Given the description of an element on the screen output the (x, y) to click on. 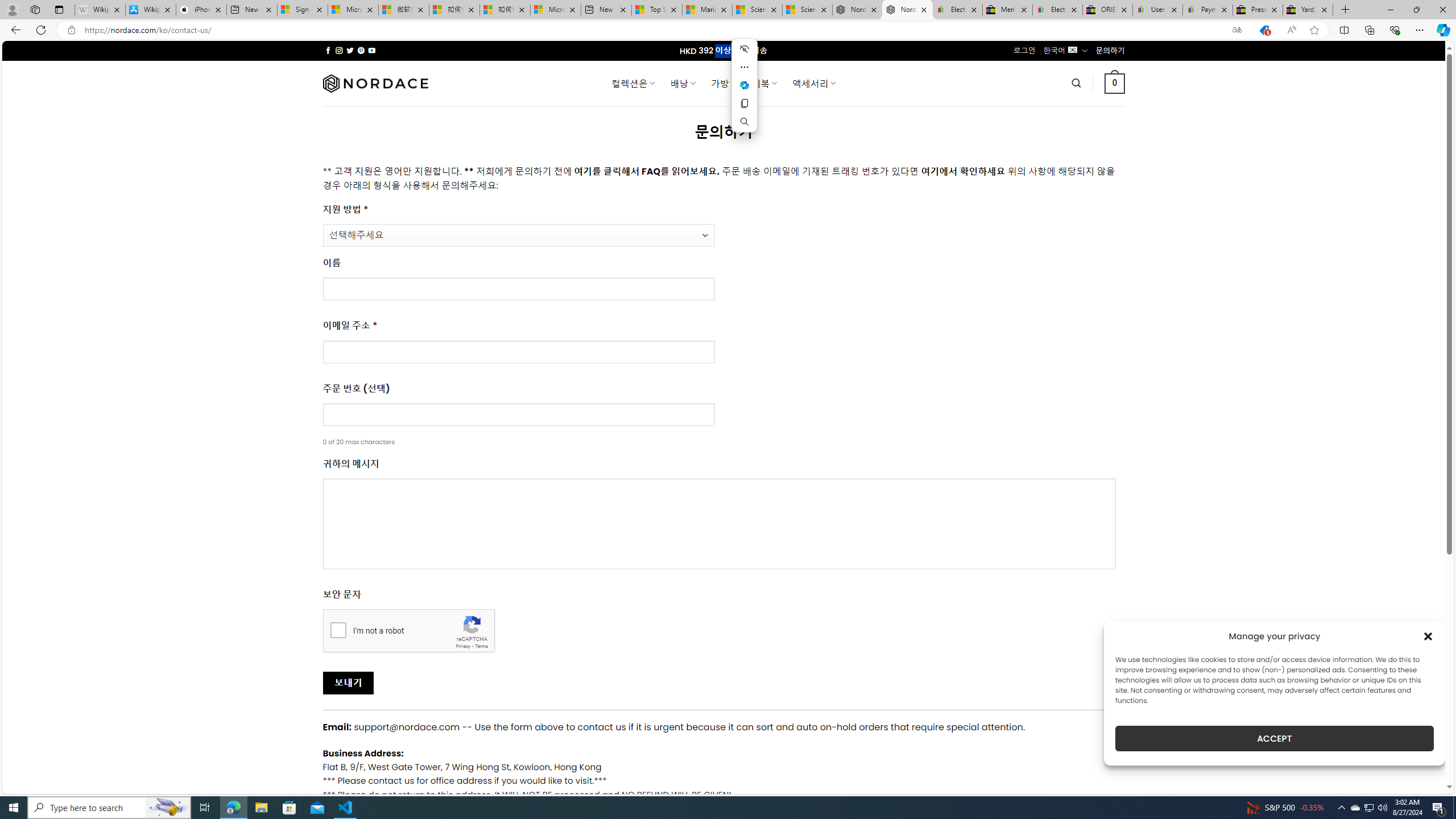
Tab actions menu (58, 9)
Copy (744, 103)
Press Room - eBay Inc. (1257, 9)
ACCEPT (1274, 738)
Read aloud this page (Ctrl+Shift+U) (1291, 29)
Personal Profile (12, 9)
iPhone - Apple (201, 9)
Nordace (374, 83)
Close (1442, 9)
New Tab (1346, 9)
Add this page to favorites (Ctrl+D) (1314, 29)
